Given the description of an element on the screen output the (x, y) to click on. 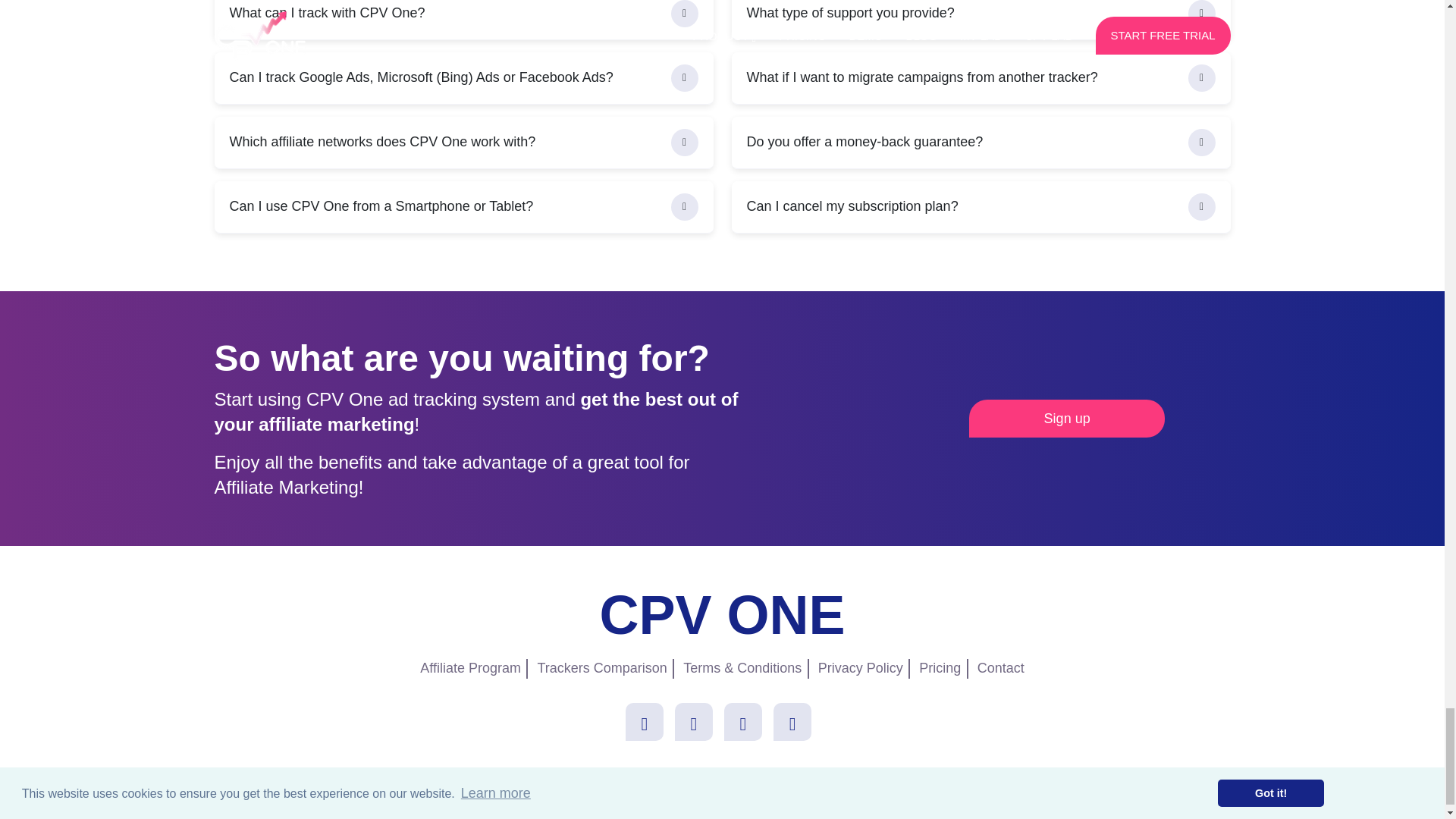
Can I use CPV One from a Smartphone or Tablet? (463, 206)
Which affiliate networks does CPV One work with? (463, 142)
What can I track with CPV One? (463, 20)
